Given the description of an element on the screen output the (x, y) to click on. 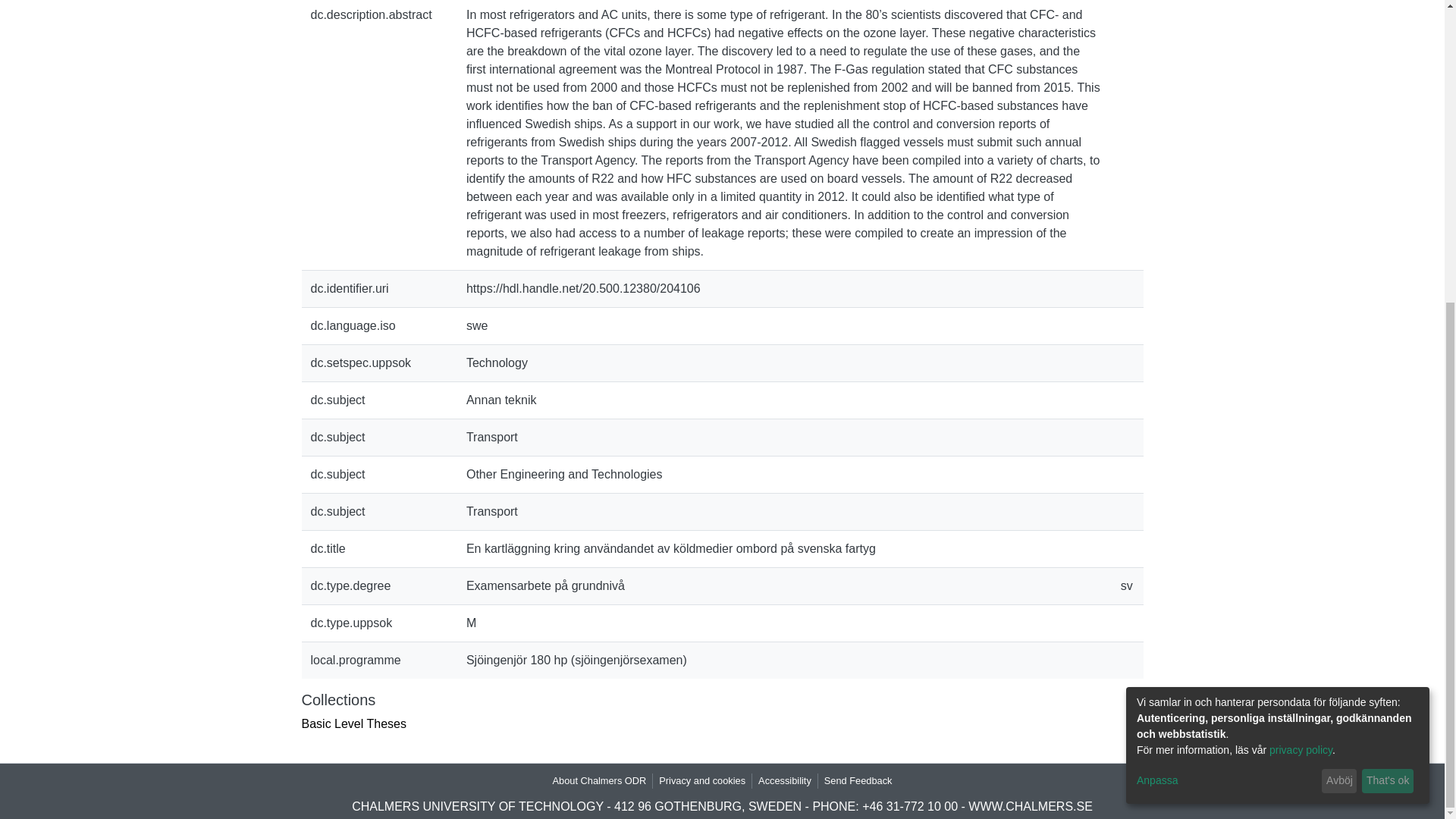
That's ok (1387, 308)
Send Feedback (858, 780)
Basic Level Theses (353, 723)
Anpassa (1226, 308)
WWW.CHALMERS.SE (1030, 806)
Privacy and cookies (701, 780)
About Chalmers ODR (599, 780)
privacy policy (1300, 277)
Accessibility (784, 780)
